Given the description of an element on the screen output the (x, y) to click on. 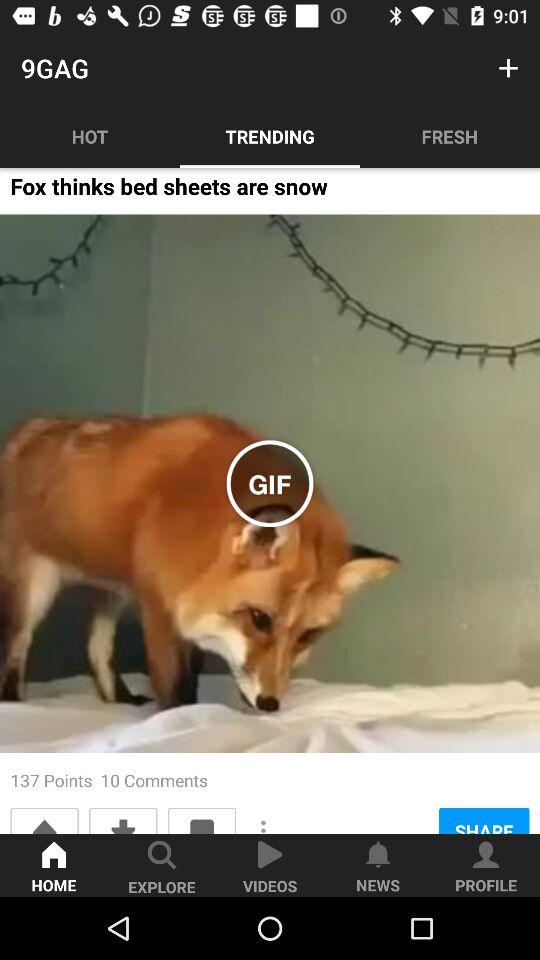
swipe to fox thinks bed item (168, 192)
